Given the description of an element on the screen output the (x, y) to click on. 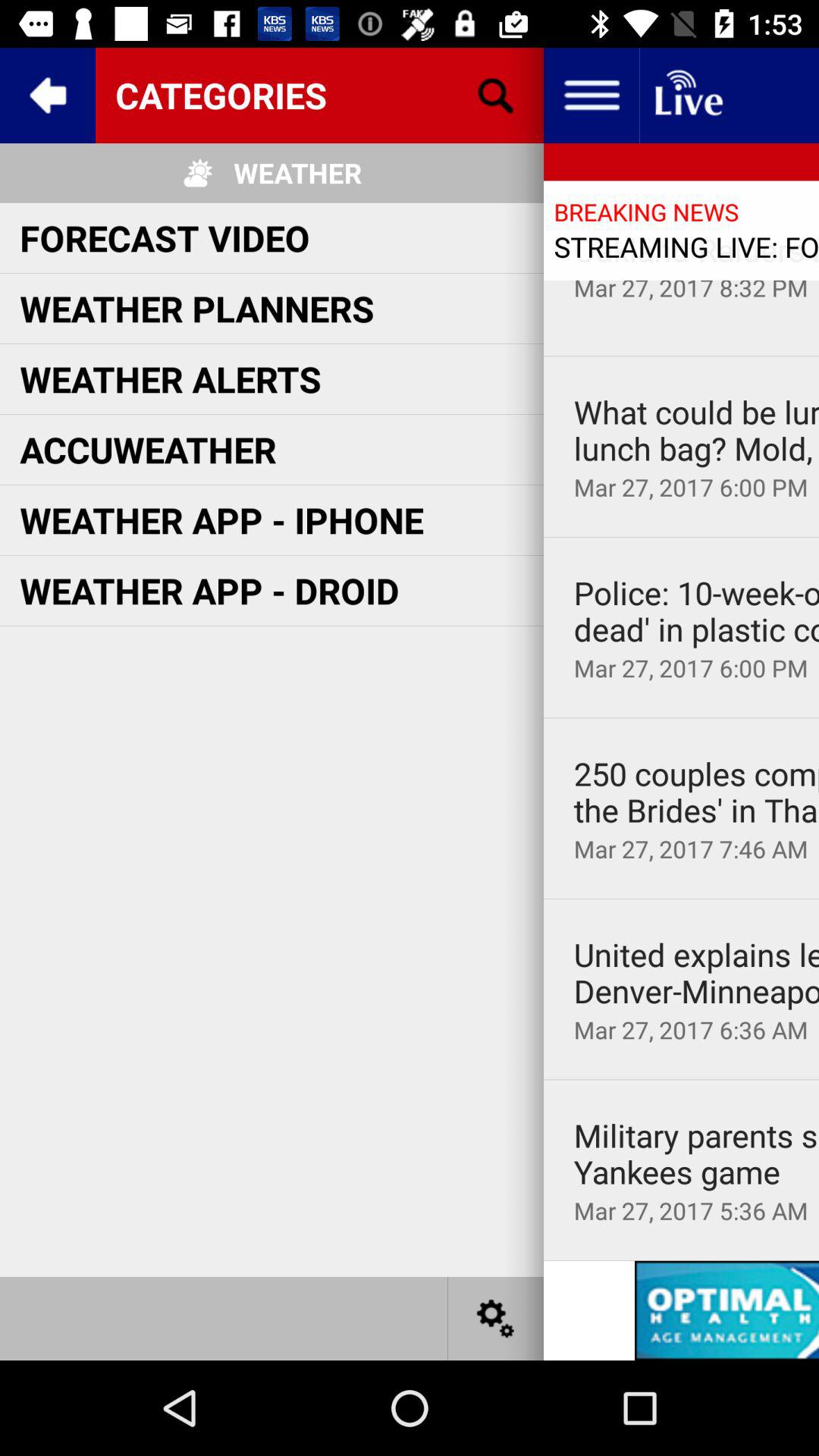
button to download live news (687, 95)
